Given the description of an element on the screen output the (x, y) to click on. 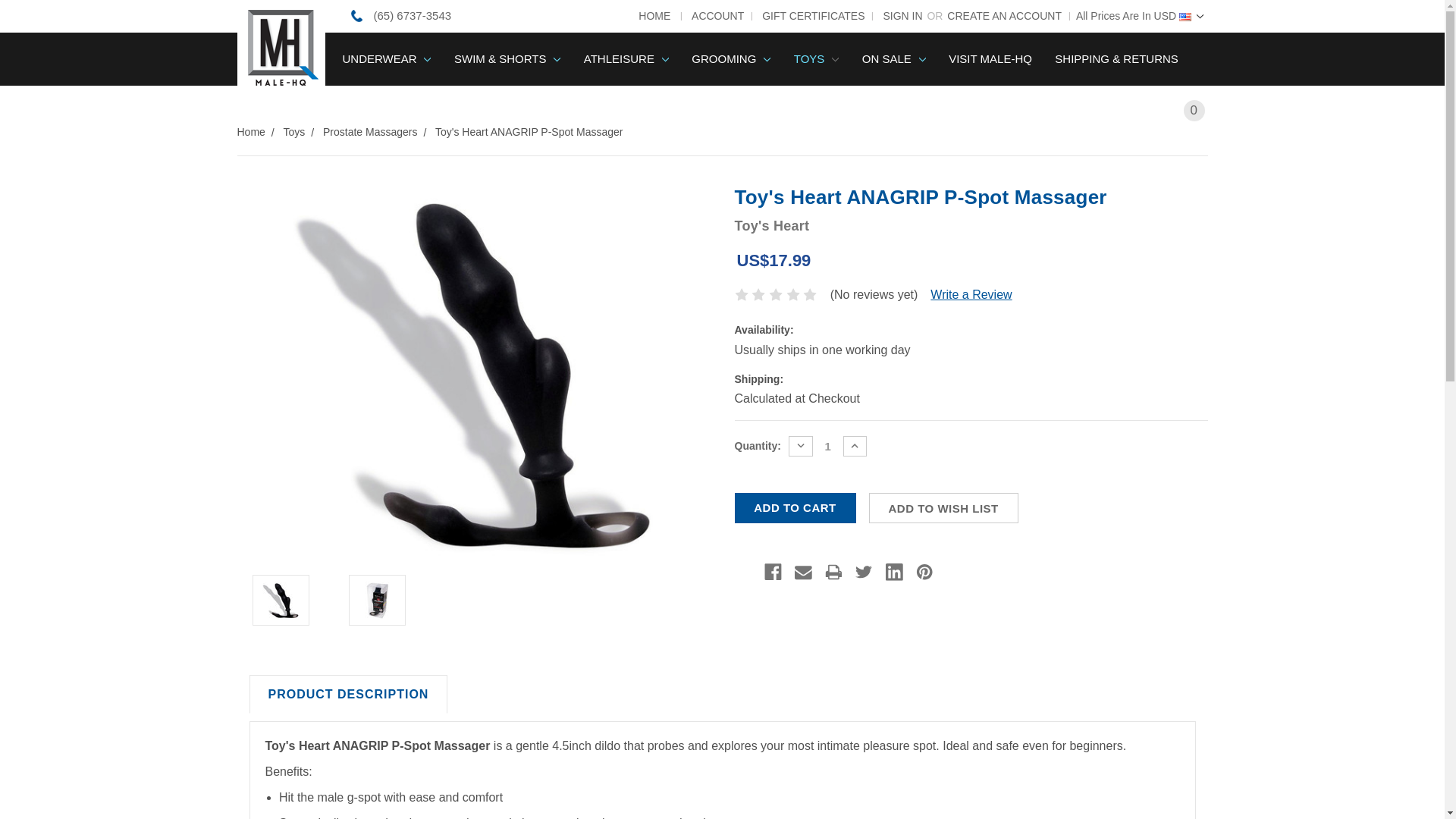
SIGN IN (895, 16)
Toy's Heart ANAGRIP P-Spot Massager (280, 600)
UNDERWEAR (386, 58)
GIFT CERTIFICATES (809, 16)
ACCOUNT (713, 16)
CREATE AN ACCOUNT (1006, 16)
All Prices Are In USD (1138, 16)
Add to Cart (794, 508)
1 (827, 445)
Male-HQ (279, 43)
HOME (656, 16)
